Given the description of an element on the screen output the (x, y) to click on. 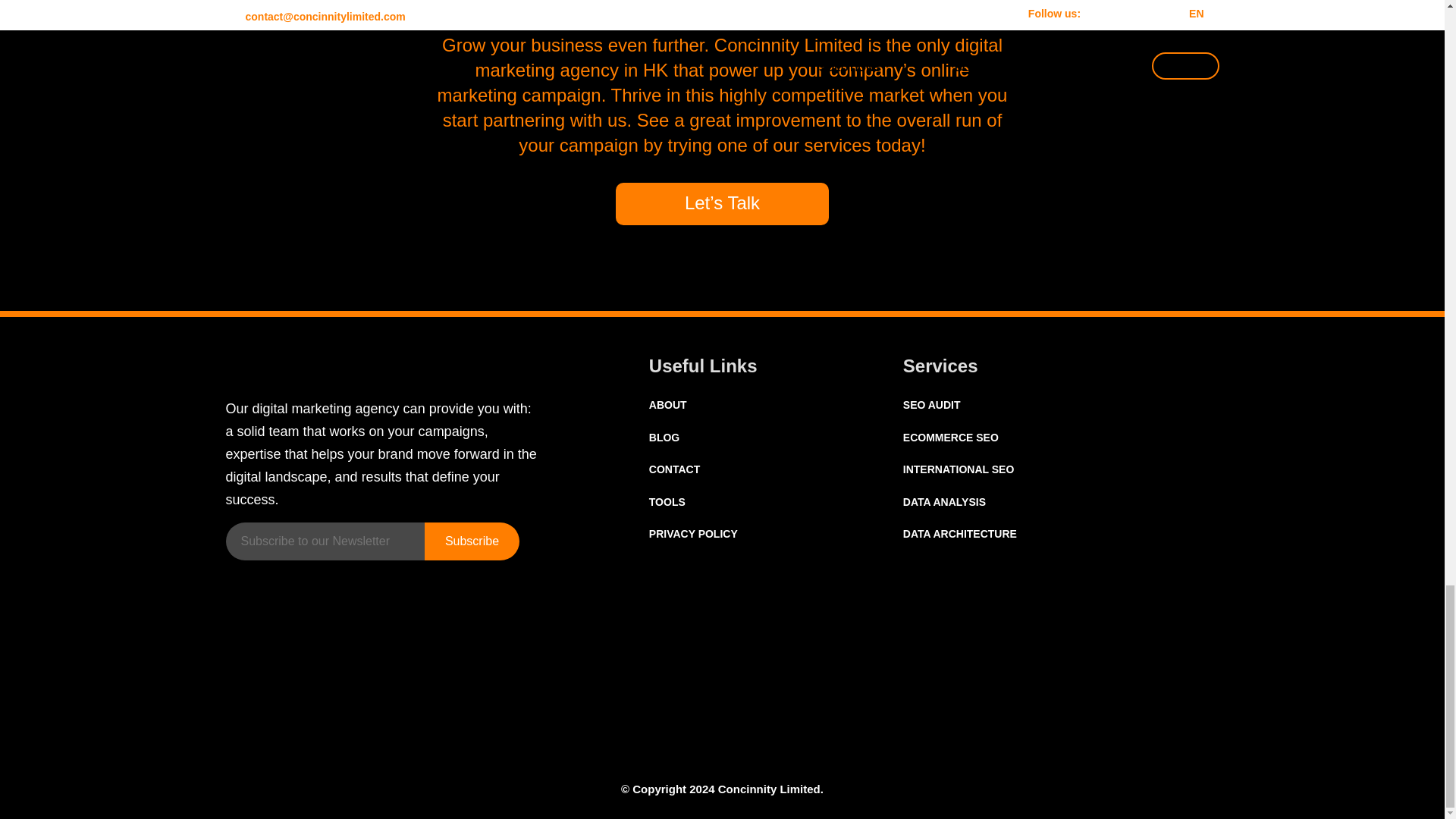
SEO AUDIT (931, 404)
ABOUT (668, 404)
ECOMMERCE SEO (950, 437)
DATA ARCHITECTURE (959, 533)
DATA ANALYSIS (943, 501)
INTERNATIONAL SEO (958, 469)
Subscribe (472, 541)
CONTACT (674, 469)
TOOLS (667, 501)
Subscribe (472, 541)
PRIVACY POLICY (693, 533)
BLOG (664, 437)
